Given the description of an element on the screen output the (x, y) to click on. 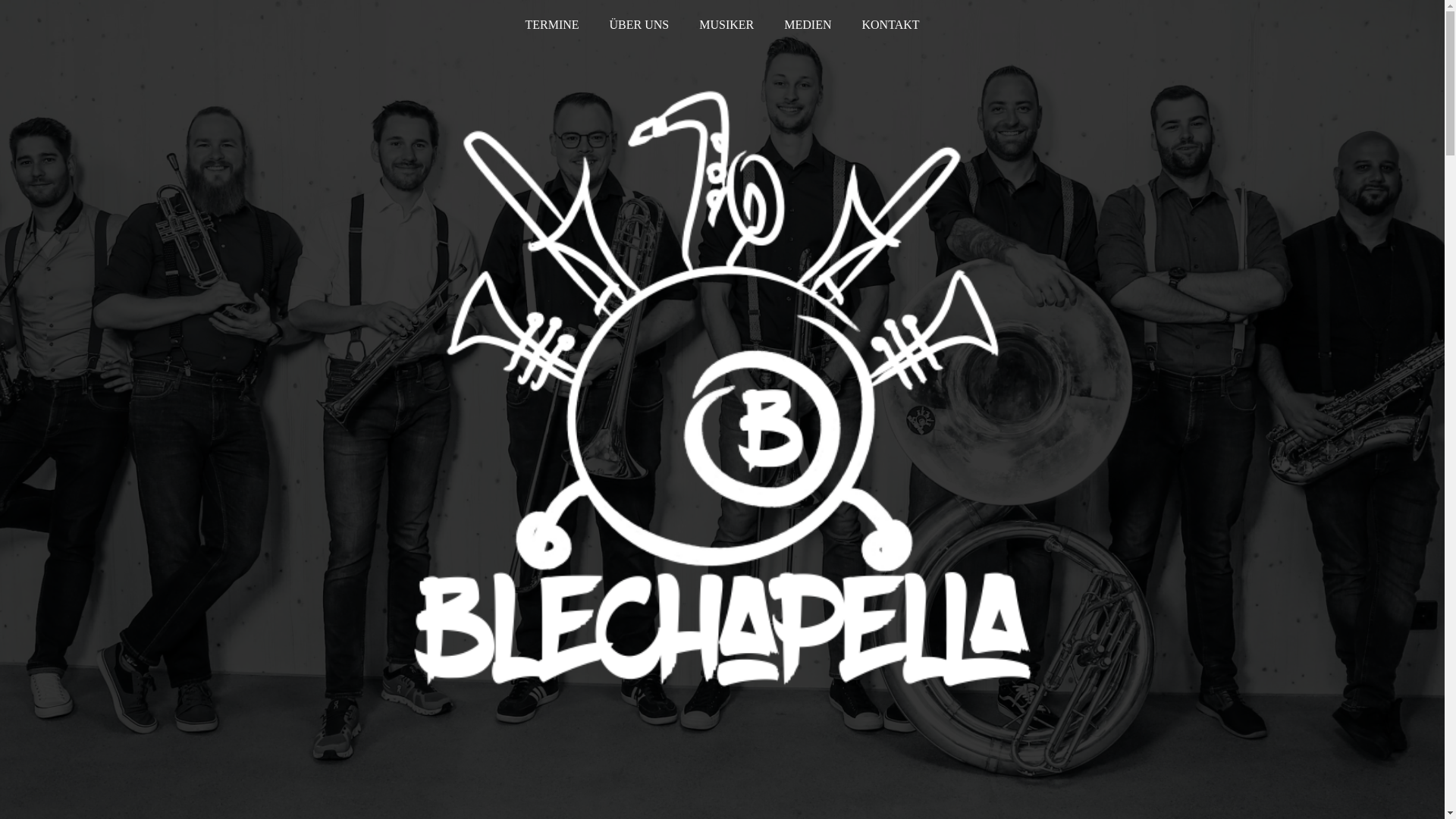
MEDIEN Element type: text (807, 24)
MUSIKER Element type: text (726, 24)
KONTAKT Element type: text (890, 24)
TERMINE Element type: text (551, 24)
